Given the description of an element on the screen output the (x, y) to click on. 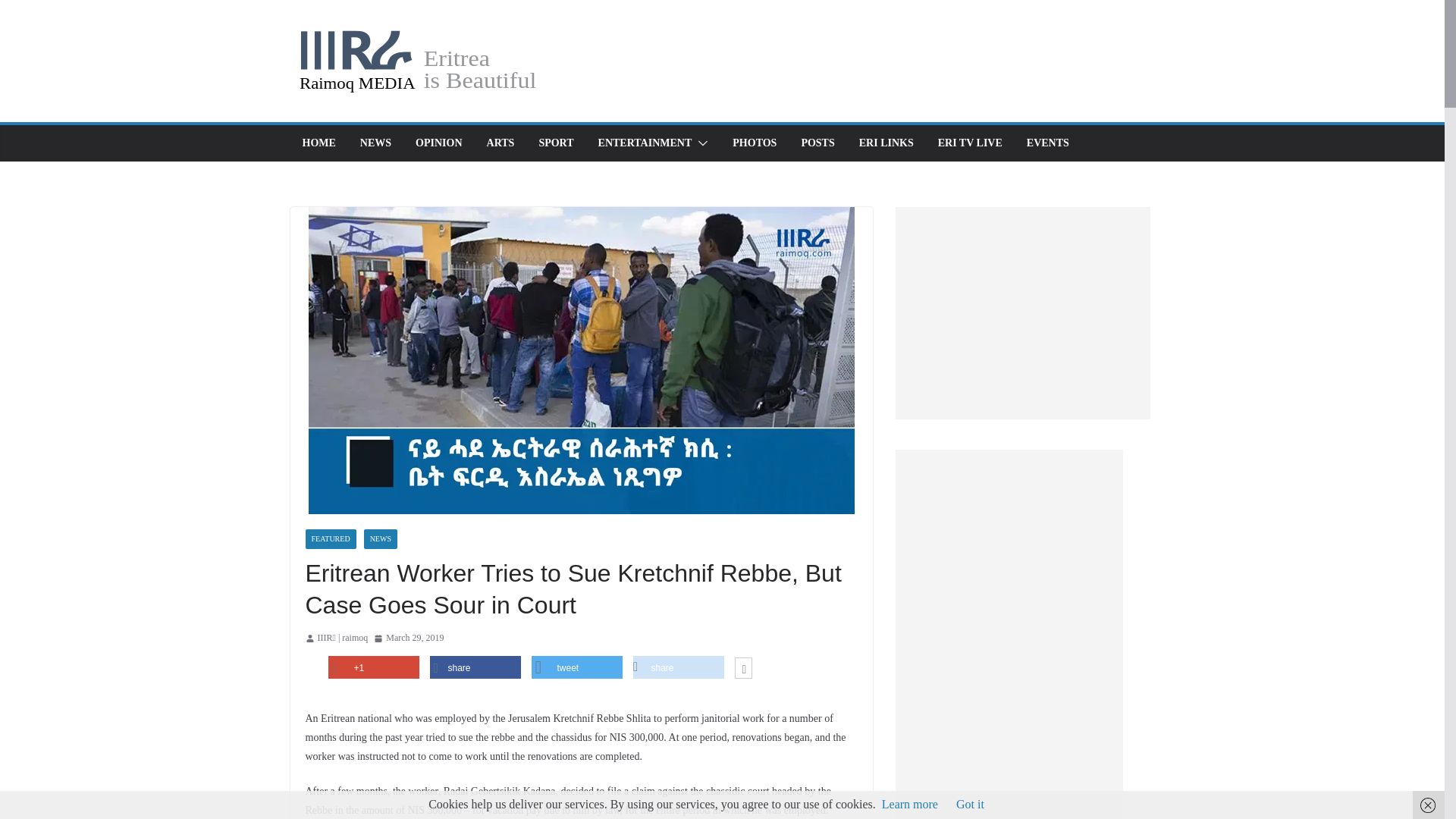
PHOTOS (754, 142)
Share on Twitter (576, 667)
NEWS (375, 142)
share (677, 667)
EVENTS (1047, 142)
share (474, 667)
SPORT (555, 142)
ERI TV LIVE (970, 142)
tweet (576, 667)
ENTERTAINMENT (645, 142)
POSTS (817, 142)
OPINION (437, 142)
FEATURED (329, 538)
Share on Reddit (677, 667)
ERI LINKS (886, 142)
